Given the description of an element on the screen output the (x, y) to click on. 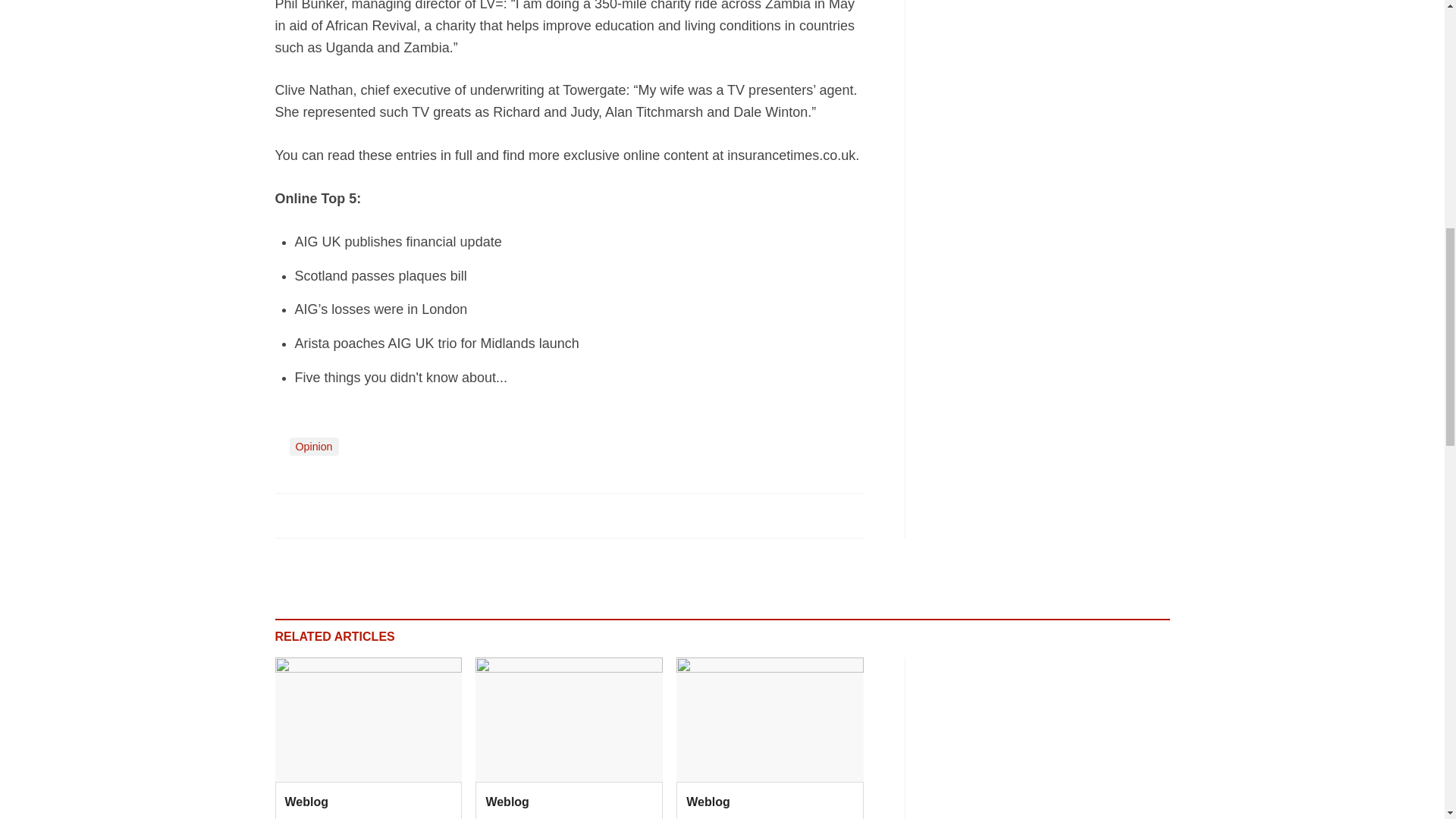
Share this on Facebook (288, 514)
No comments (840, 523)
Share this on Twitter (320, 514)
Share this on Linked in (352, 514)
Email this article (386, 514)
